Given the description of an element on the screen output the (x, y) to click on. 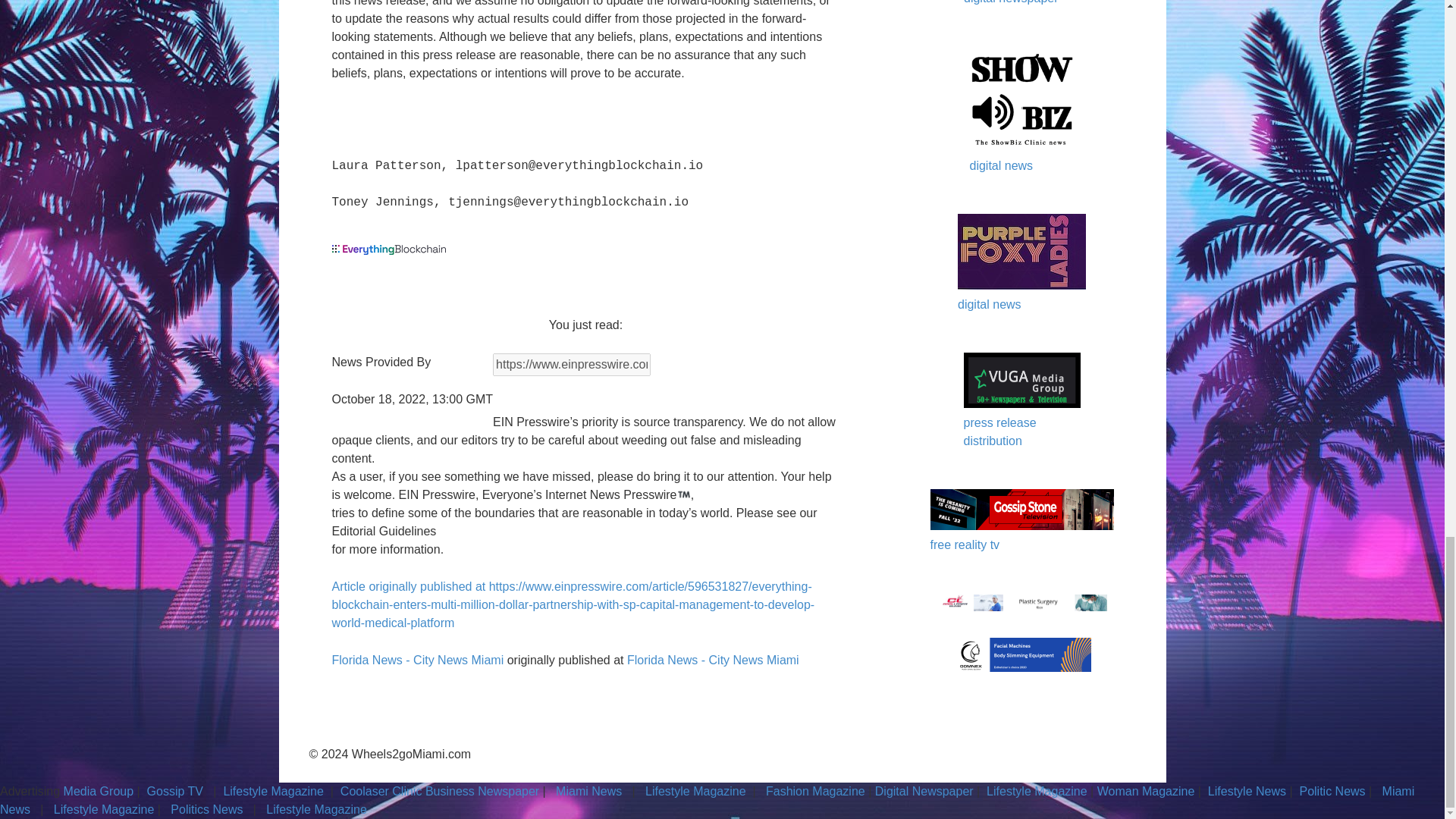
Florida News - City News Miami (713, 659)
Florida News - City News Miami (417, 659)
